Given the description of an element on the screen output the (x, y) to click on. 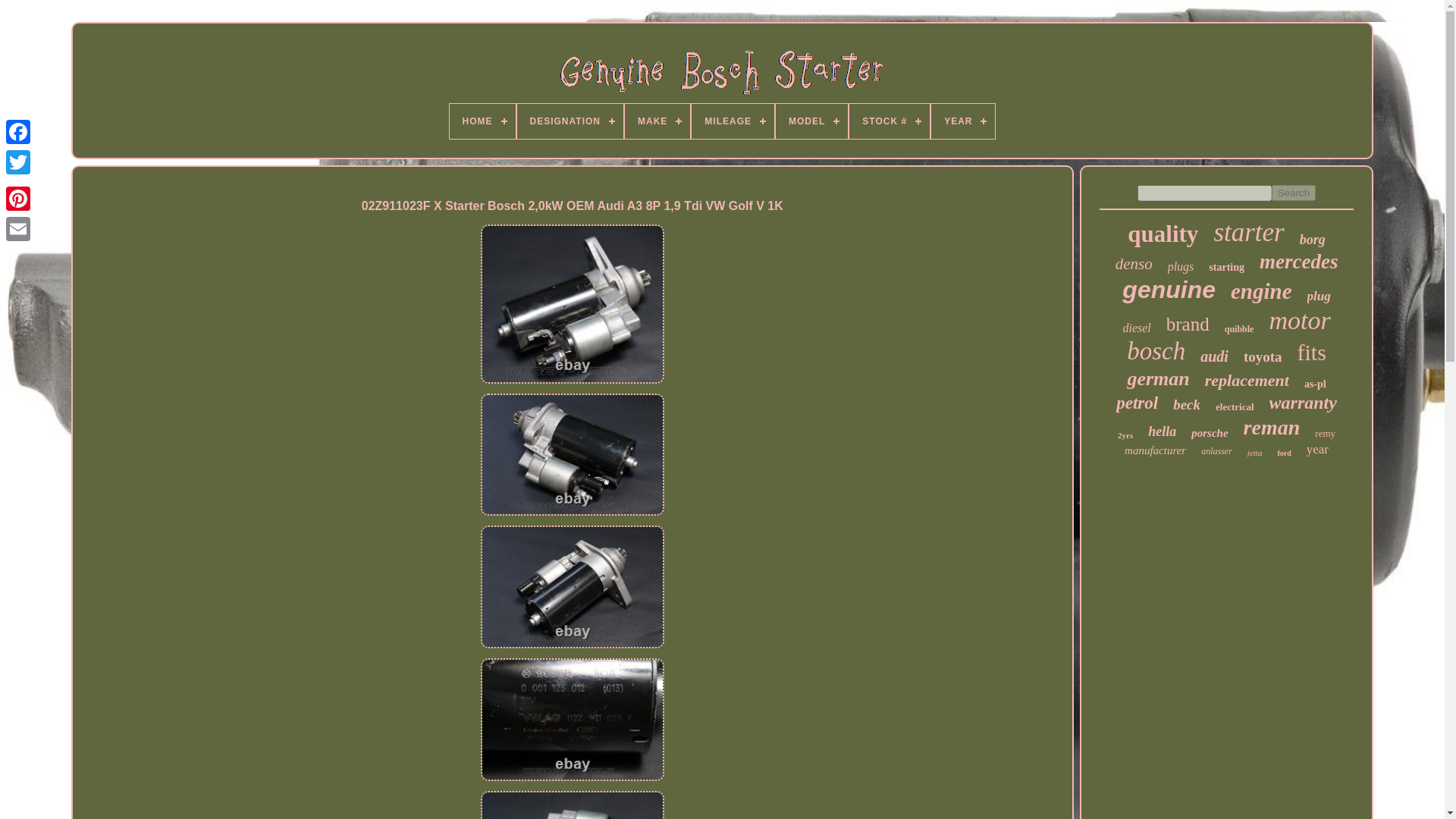
MILEAGE (732, 121)
HOME (482, 121)
MAKE (657, 121)
DESIGNATION (569, 121)
